Given the description of an element on the screen output the (x, y) to click on. 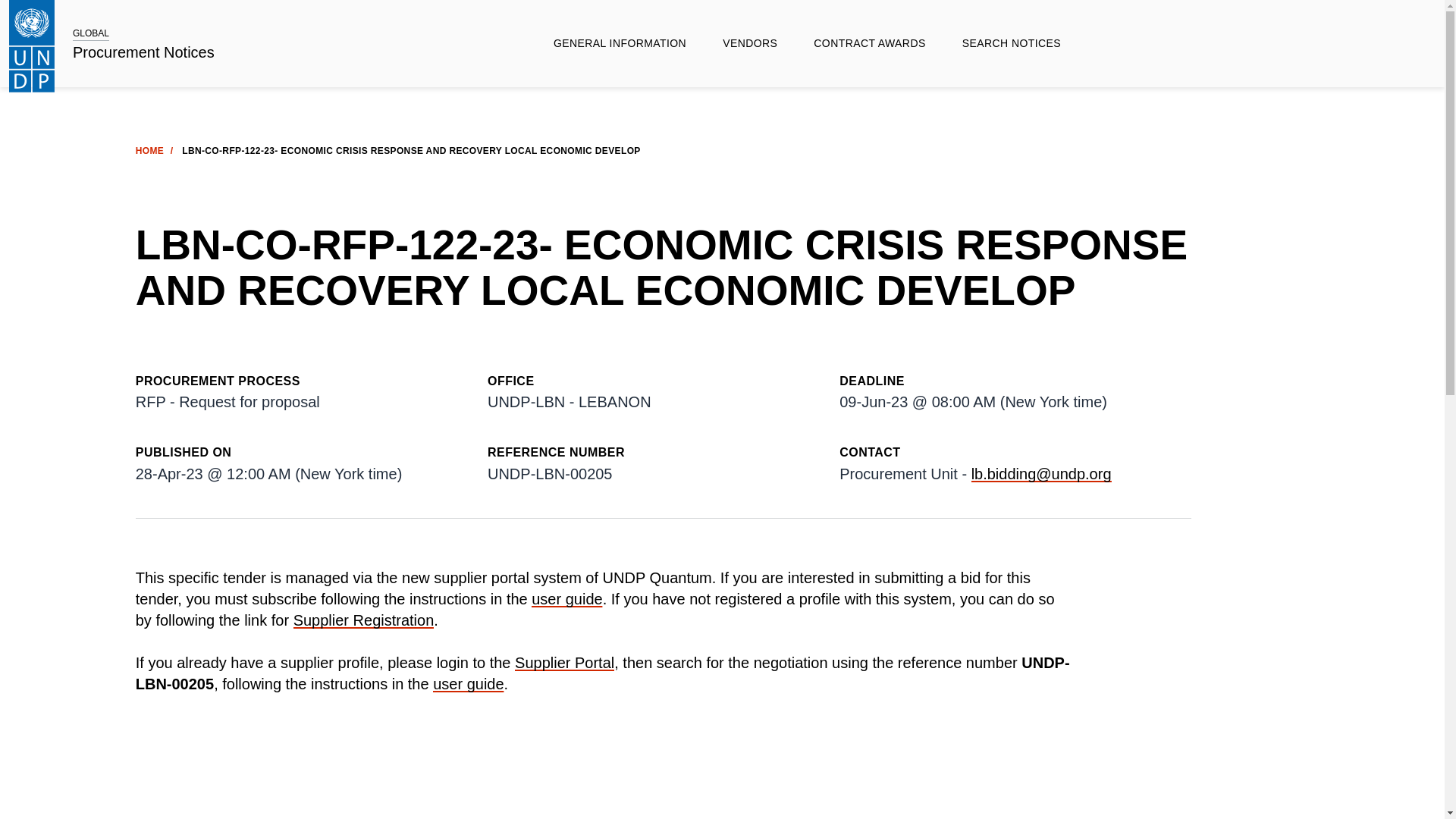
GENERAL INFORMATION (619, 43)
VENDORS (749, 43)
GLOBAL (90, 32)
user guide (566, 598)
CONTRACT AWARDS (868, 43)
HOME (149, 150)
SEARCH NOTICES (1010, 43)
Procurement Notices (143, 52)
